Given the description of an element on the screen output the (x, y) to click on. 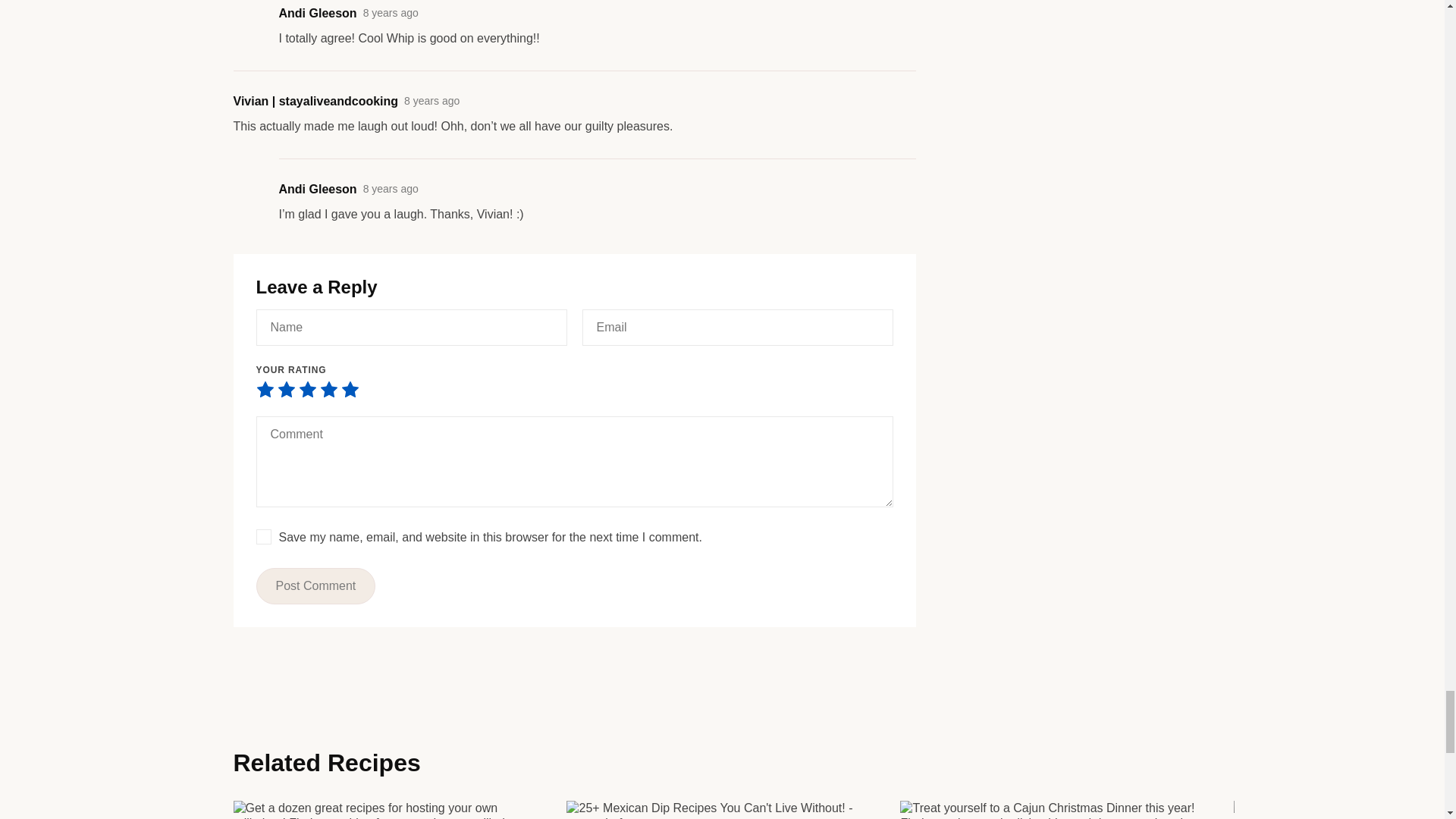
Post Comment (315, 586)
yes (263, 536)
Post Comment (315, 586)
